Given the description of an element on the screen output the (x, y) to click on. 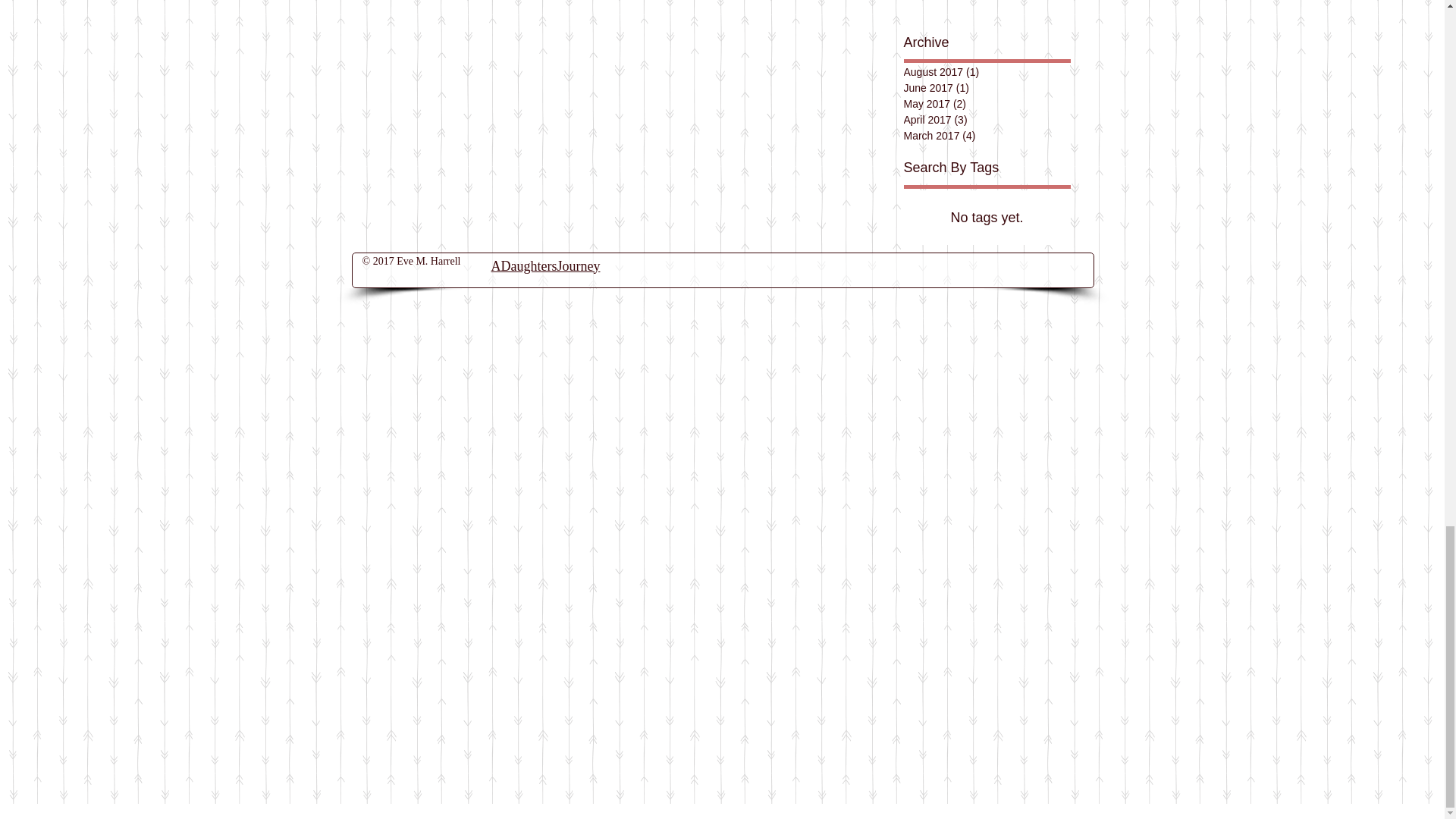
ADaughtersJourney (545, 264)
A Letter to the girl who isn't enough (1006, 2)
